Given the description of an element on the screen output the (x, y) to click on. 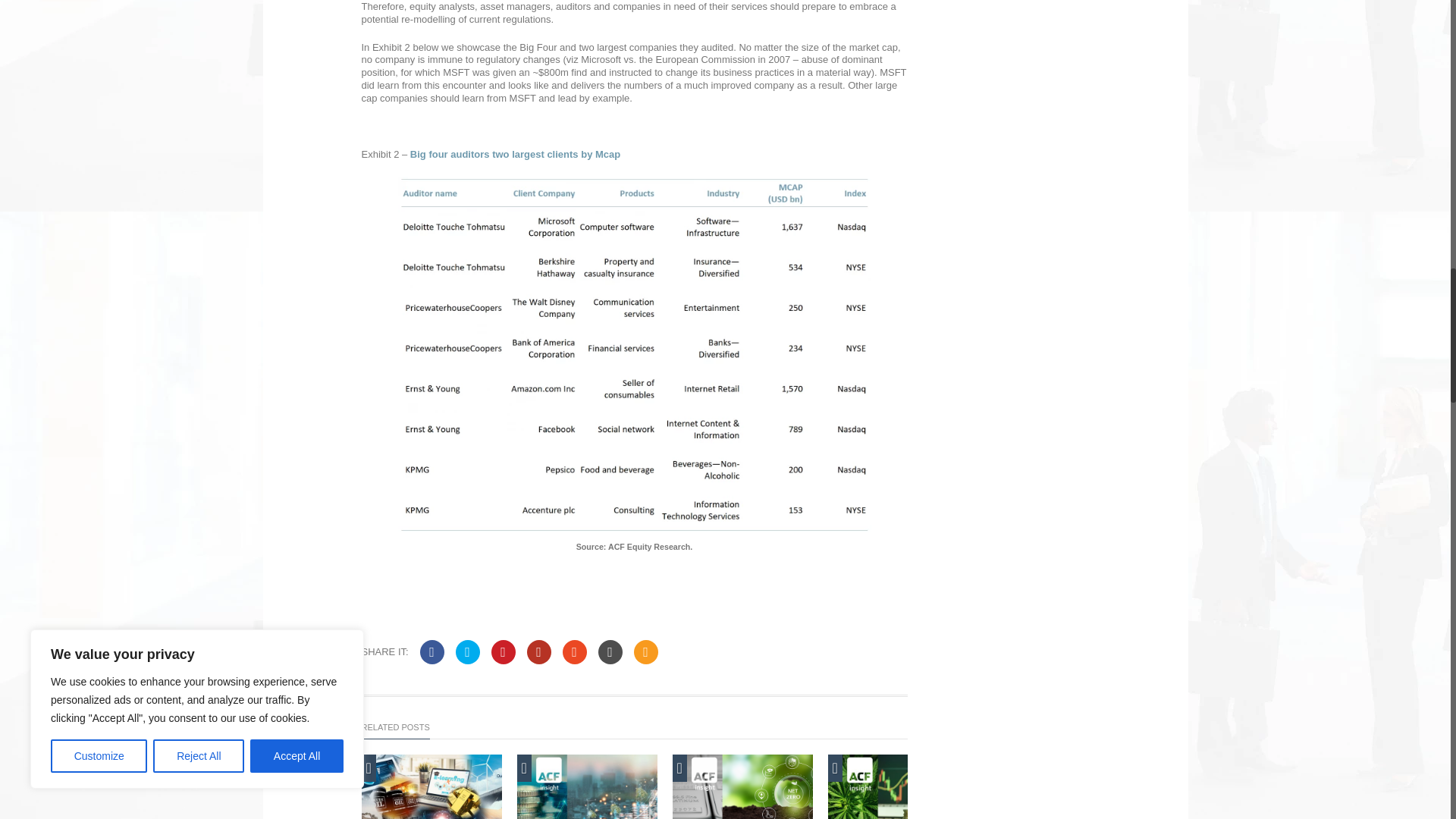
Is the Private Equity Boom Over? (587, 786)
ACF Outlook 2024 (430, 786)
